Given the description of an element on the screen output the (x, y) to click on. 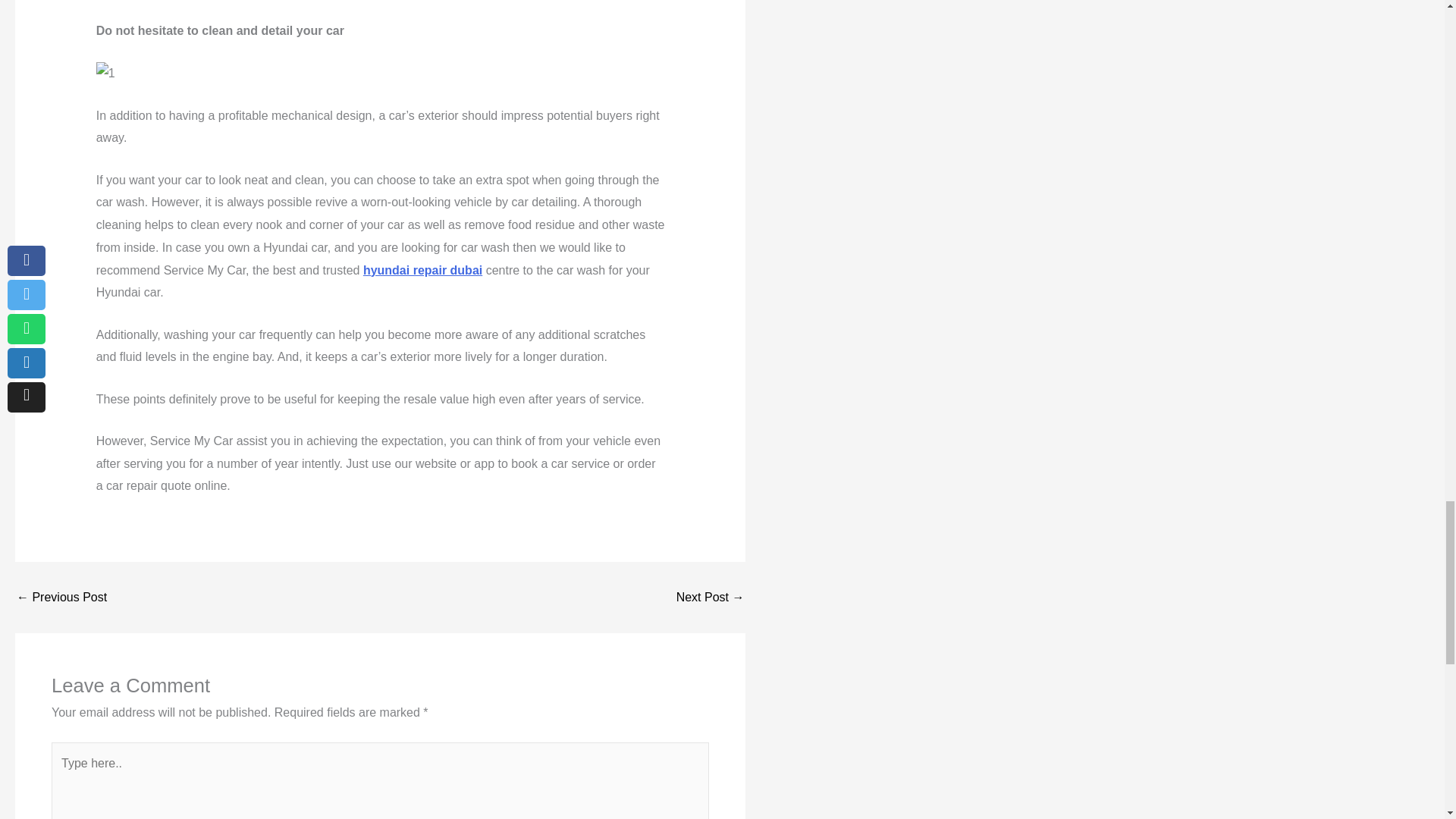
hyundai repair dubai (421, 269)
Best Fashion Brands for Women's Lifestyle In Every Season (61, 597)
The Best Chance to Post on Instagram to Lift Commitment (710, 597)
